Given the description of an element on the screen output the (x, y) to click on. 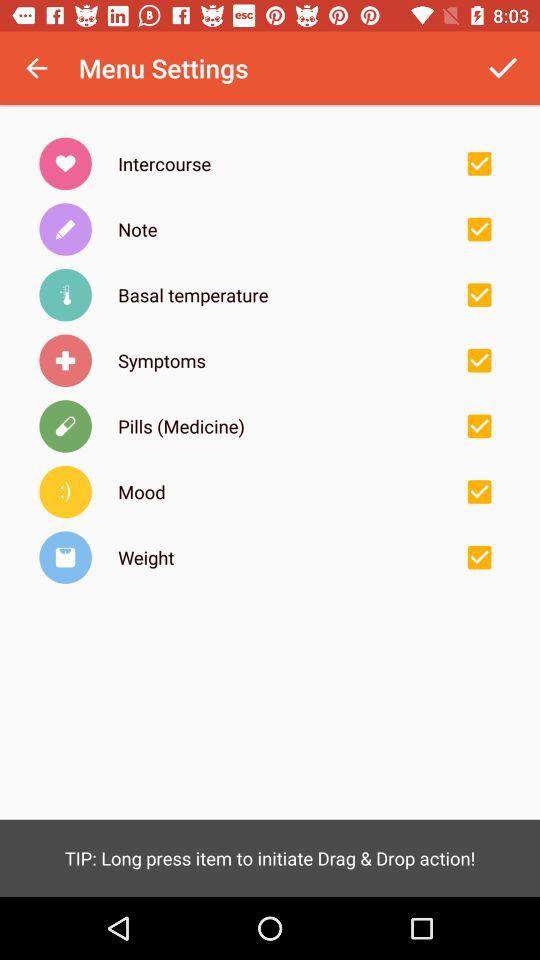
item selection box (479, 163)
